Given the description of an element on the screen output the (x, y) to click on. 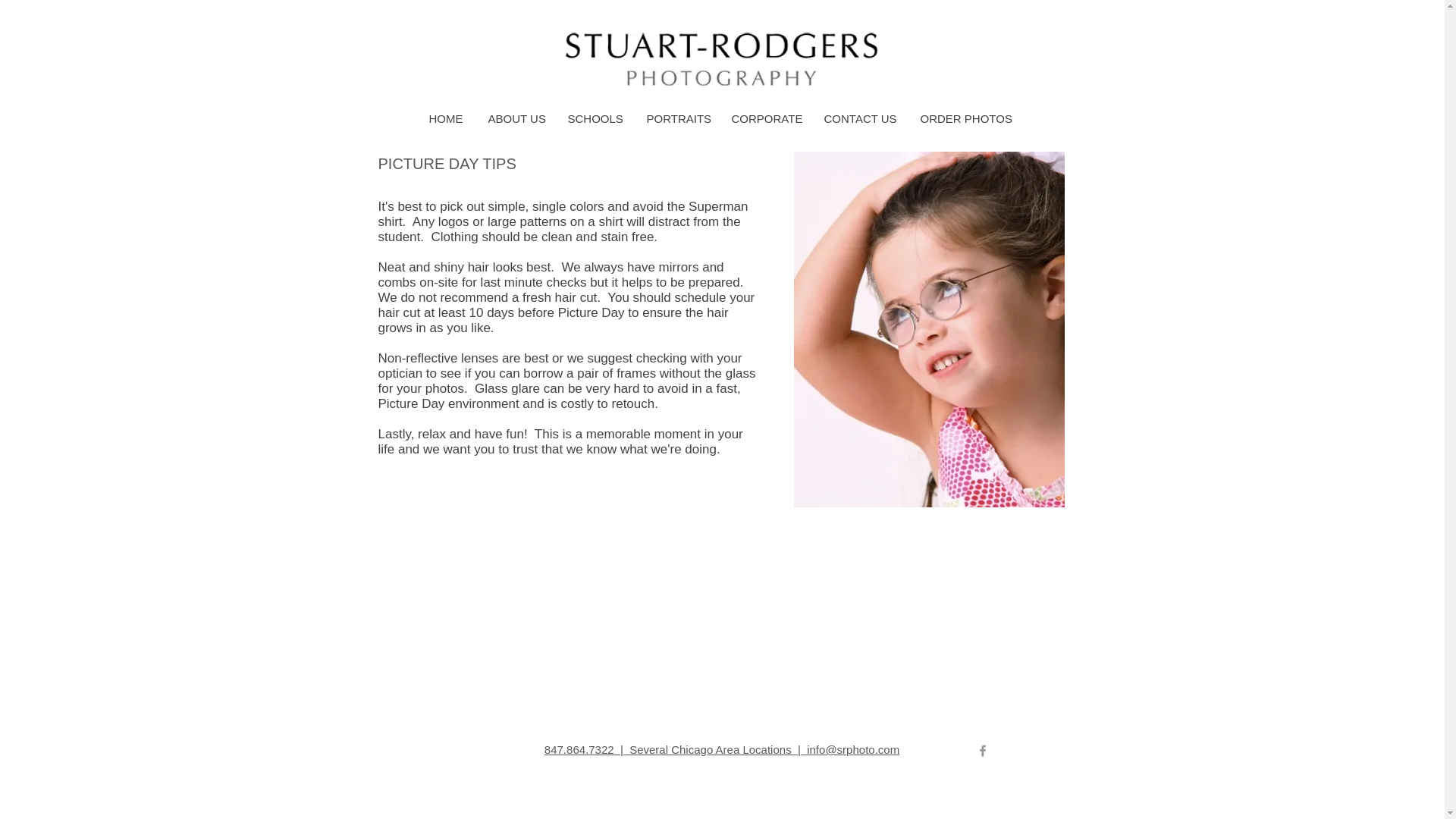
CORPORATE (766, 118)
ABOUT US (516, 118)
SCHOOLS (595, 118)
CONTACT US (860, 118)
ORDER PHOTOS (965, 118)
HOME (446, 118)
PORTRAITS (677, 118)
